Given the description of an element on the screen output the (x, y) to click on. 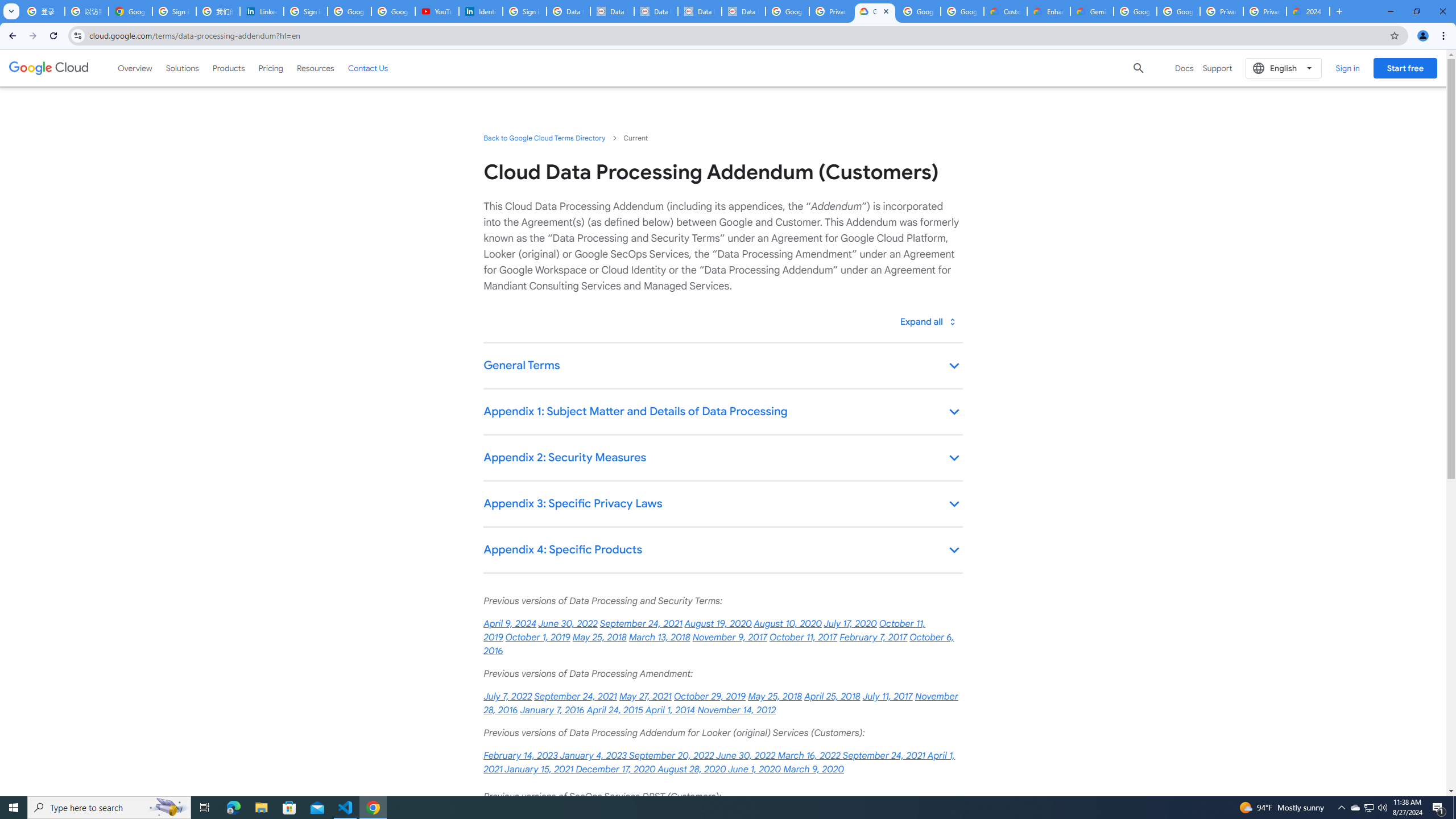
November 28, 2016 (720, 703)
July 17, 2020 (850, 623)
Start free (1405, 67)
October 1, 2019 (537, 637)
Enhanced Support | Google Cloud (1048, 11)
Products (228, 67)
Docs (1183, 67)
LinkedIn Privacy Policy (261, 11)
April 24, 2015 (614, 709)
October 29, 2019 (709, 696)
